Given the description of an element on the screen output the (x, y) to click on. 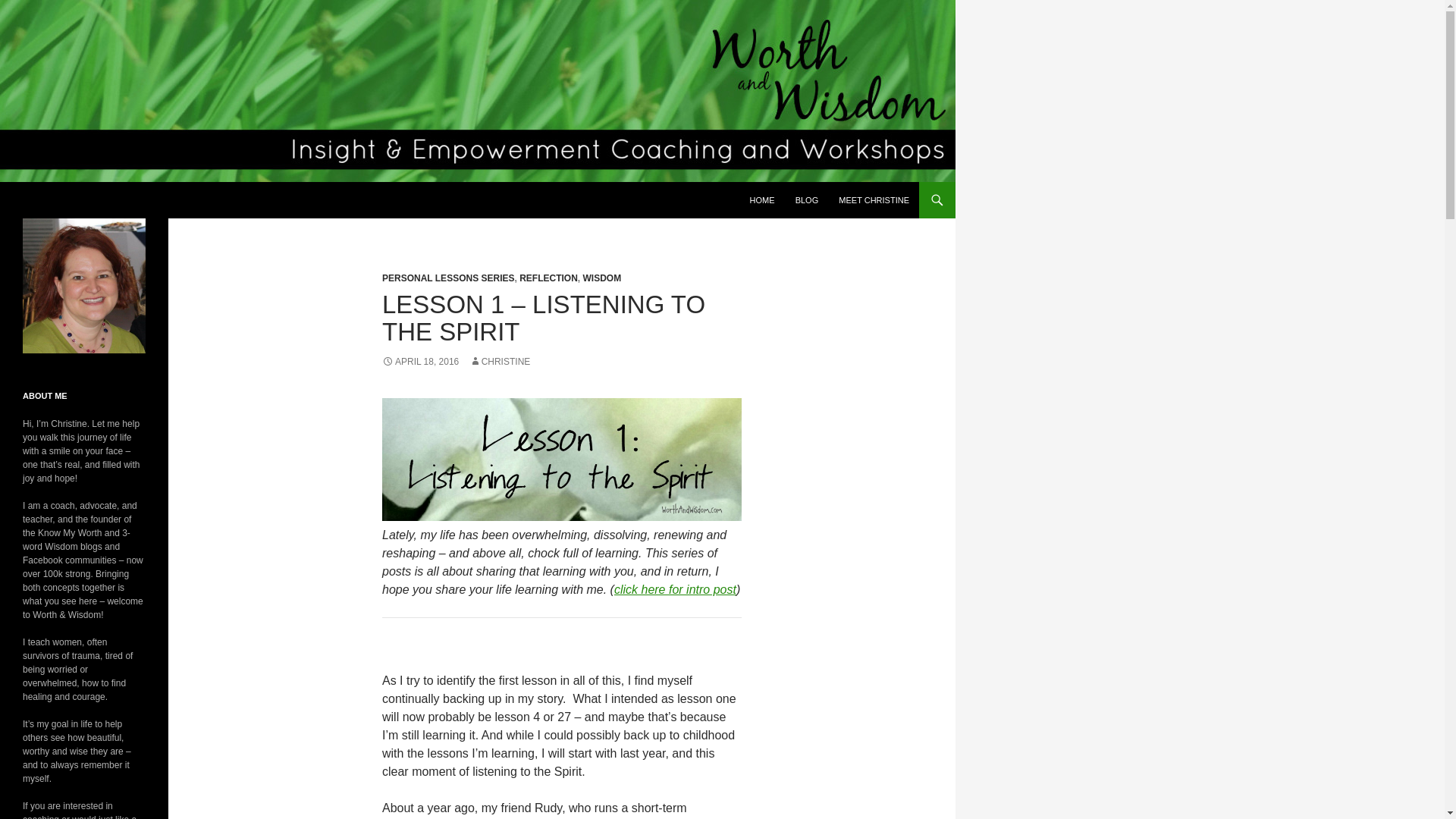
APRIL 18, 2016 (419, 361)
HOME (762, 199)
REFLECTION (548, 277)
MEET CHRISTINE (873, 199)
BLOG (807, 199)
CHRISTINE (499, 361)
click here for intro post (675, 589)
PERSONAL LESSONS SERIES (448, 277)
WISDOM (602, 277)
